Given the description of an element on the screen output the (x, y) to click on. 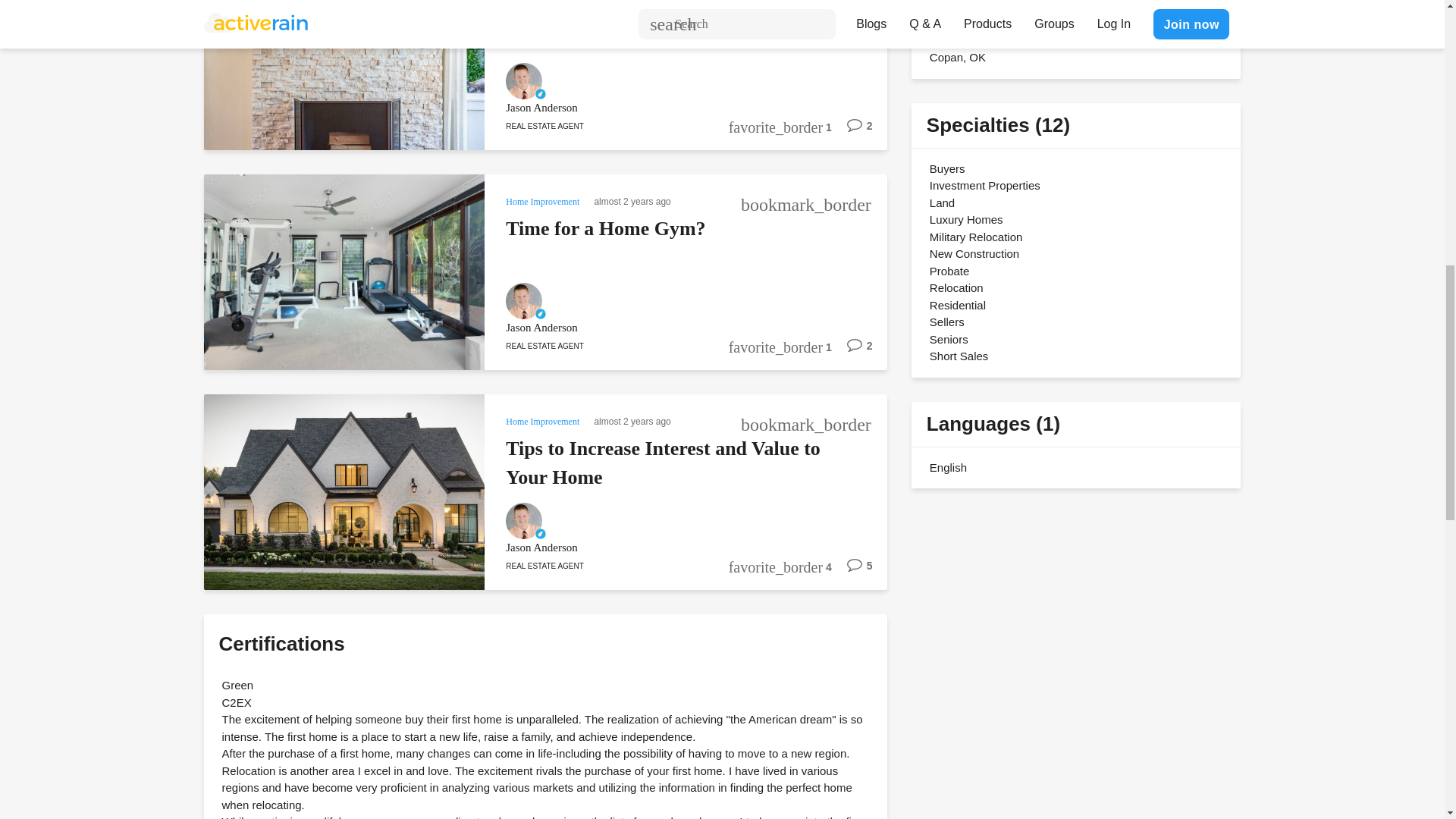
2 (851, 131)
Facelift for your Fireplace (615, 9)
Jason Anderson (665, 108)
Time for a Home Gym? (604, 228)
Home Improvement (543, 200)
